Given the description of an element on the screen output the (x, y) to click on. 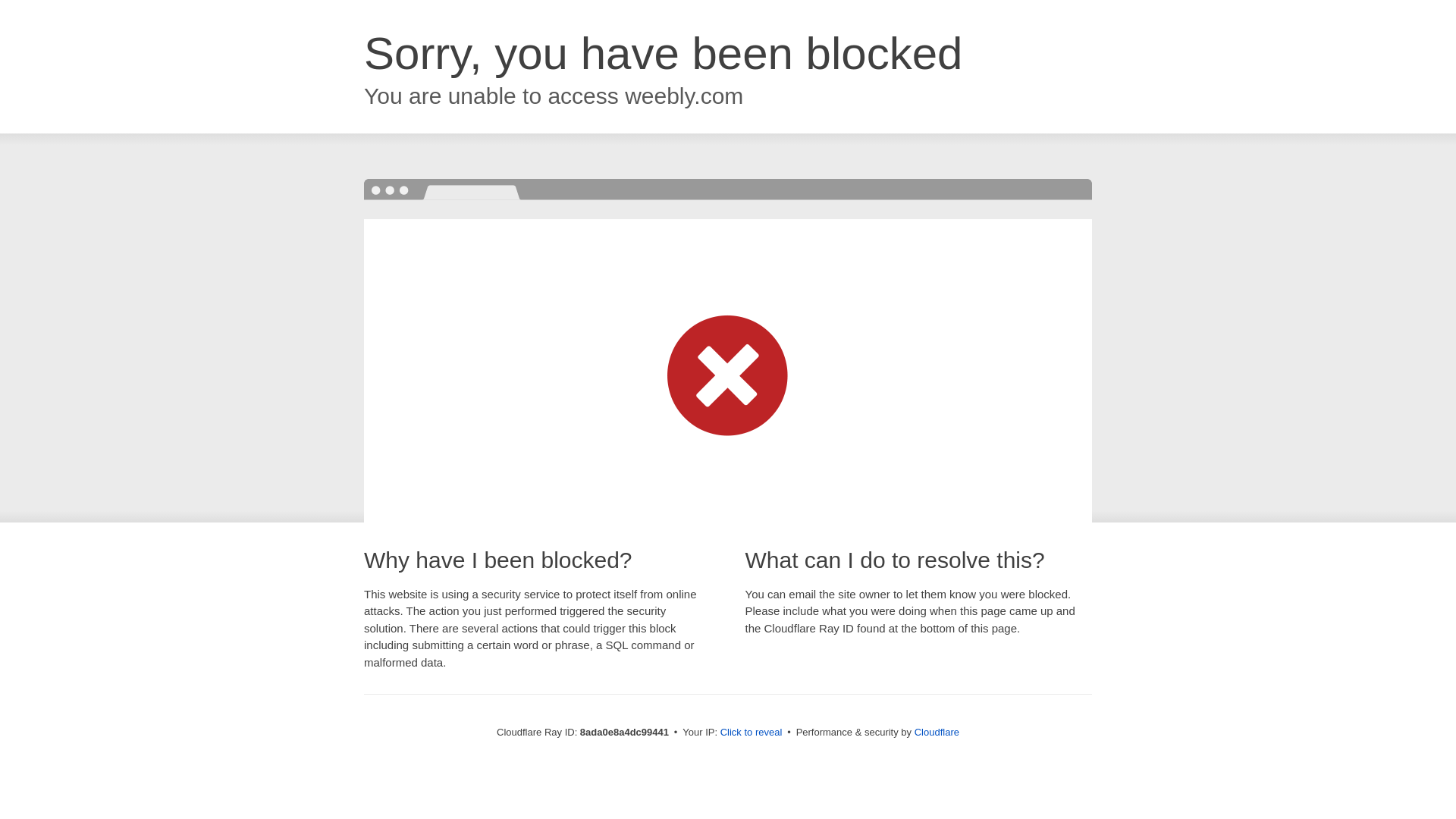
Cloudflare (936, 731)
Click to reveal (751, 732)
